Given the description of an element on the screen output the (x, y) to click on. 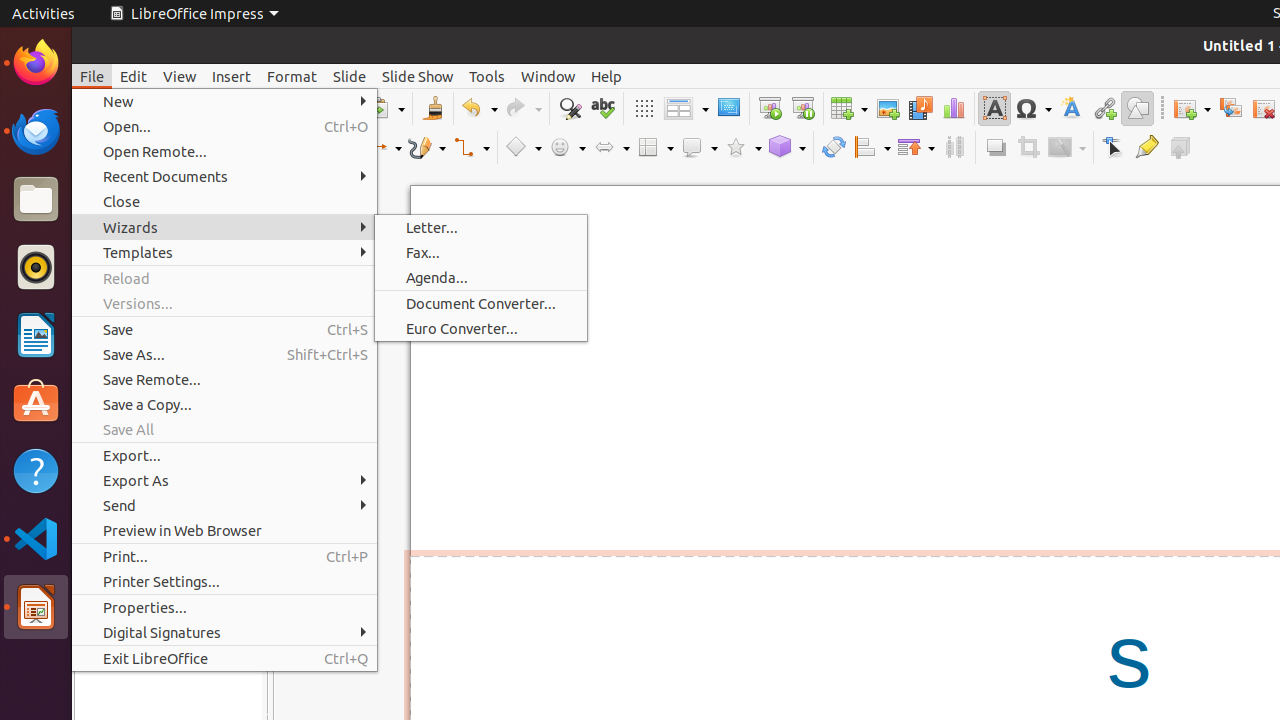
Reload Element type: menu-item (224, 278)
Export As Element type: menu (224, 480)
Letter... Element type: menu-item (481, 227)
Slide Show Element type: menu (417, 76)
